Given the description of an element on the screen output the (x, y) to click on. 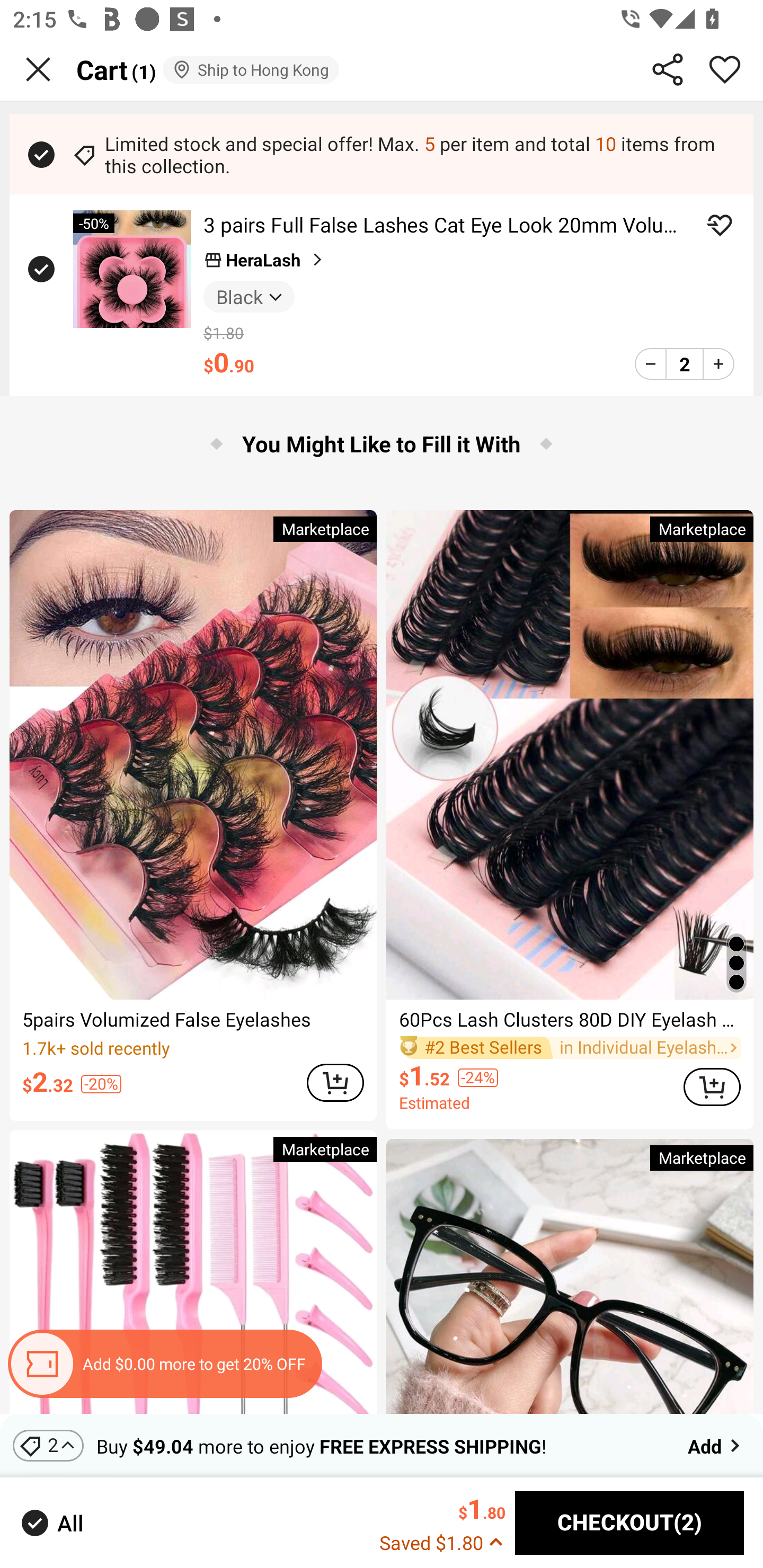
BACK Cart (1) Ship to Hong Kong Share Wishlist (381, 69)
BACK (38, 68)
Wishlist (724, 68)
Share (667, 68)
Ship to Hong Kong (250, 68)
ADD TO WISHLIST (719, 224)
HeraLash (264, 259)
Black (248, 296)
product quantity minus 1 (650, 363)
2 edit product quantity (684, 363)
product quantity add 1 (718, 363)
#2 Best Sellers in Individual Eyelashes (569, 1046)
ADD TO CART (334, 1082)
ADD TO CART (711, 1086)
Coupon Alert Add $0.00 more to get 20% OFF (164, 1363)
2 (48, 1445)
Add (715, 1445)
CHECKOUT(2) (629, 1523)
All (51, 1522)
